Given the description of an element on the screen output the (x, y) to click on. 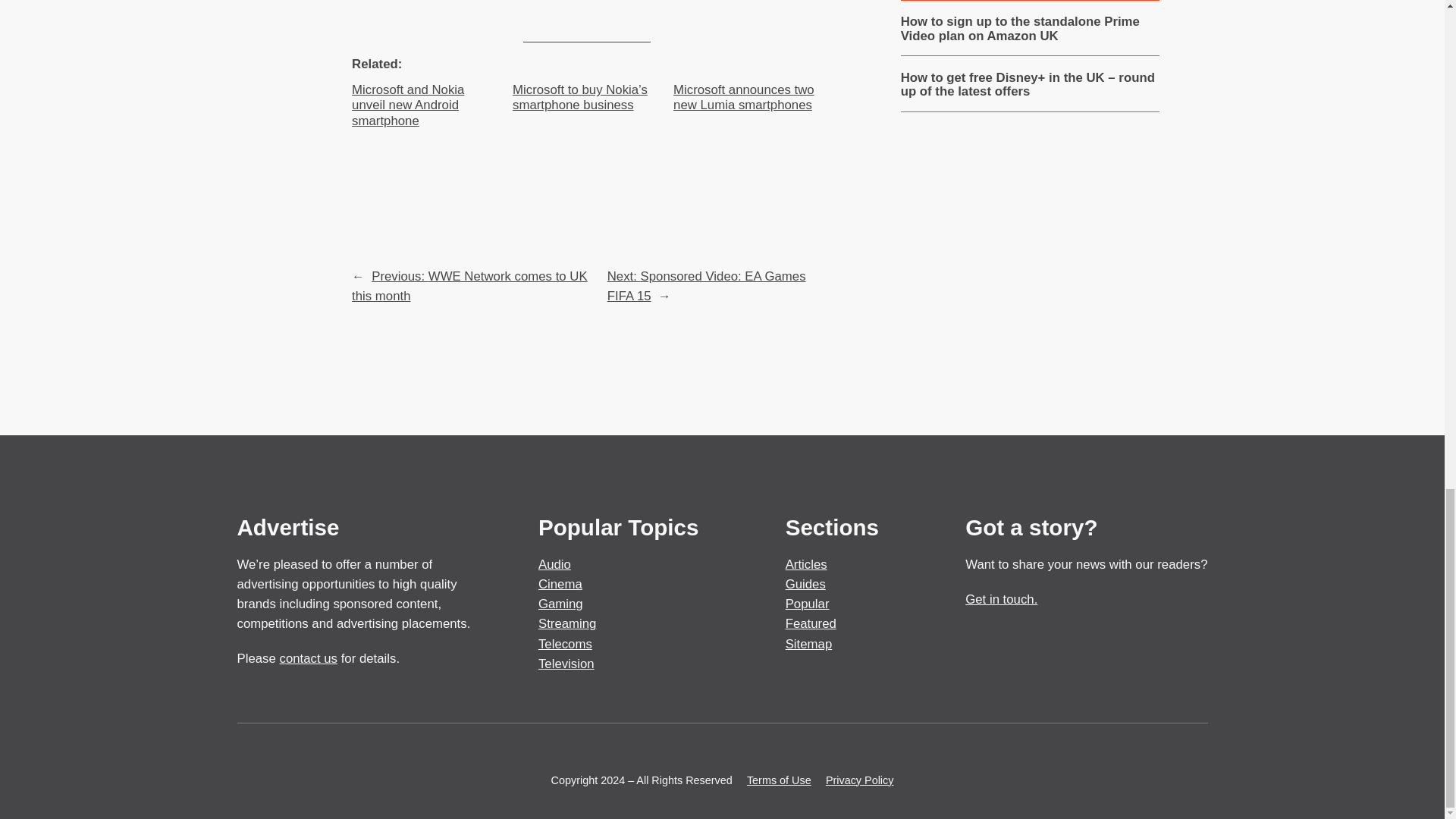
Microsoft announces two new Lumia smartphones (747, 97)
Cinema (560, 584)
Television (566, 663)
contact us (308, 658)
Gaming (560, 603)
Streaming (566, 623)
Next: Sponsored Video: EA Games FIFA 15 (706, 286)
Audio (554, 564)
Microsoft and Nokia unveil new Android smartphone (426, 104)
Previous: WWE Network comes to UK this month (470, 286)
Telecoms (565, 644)
